Given the description of an element on the screen output the (x, y) to click on. 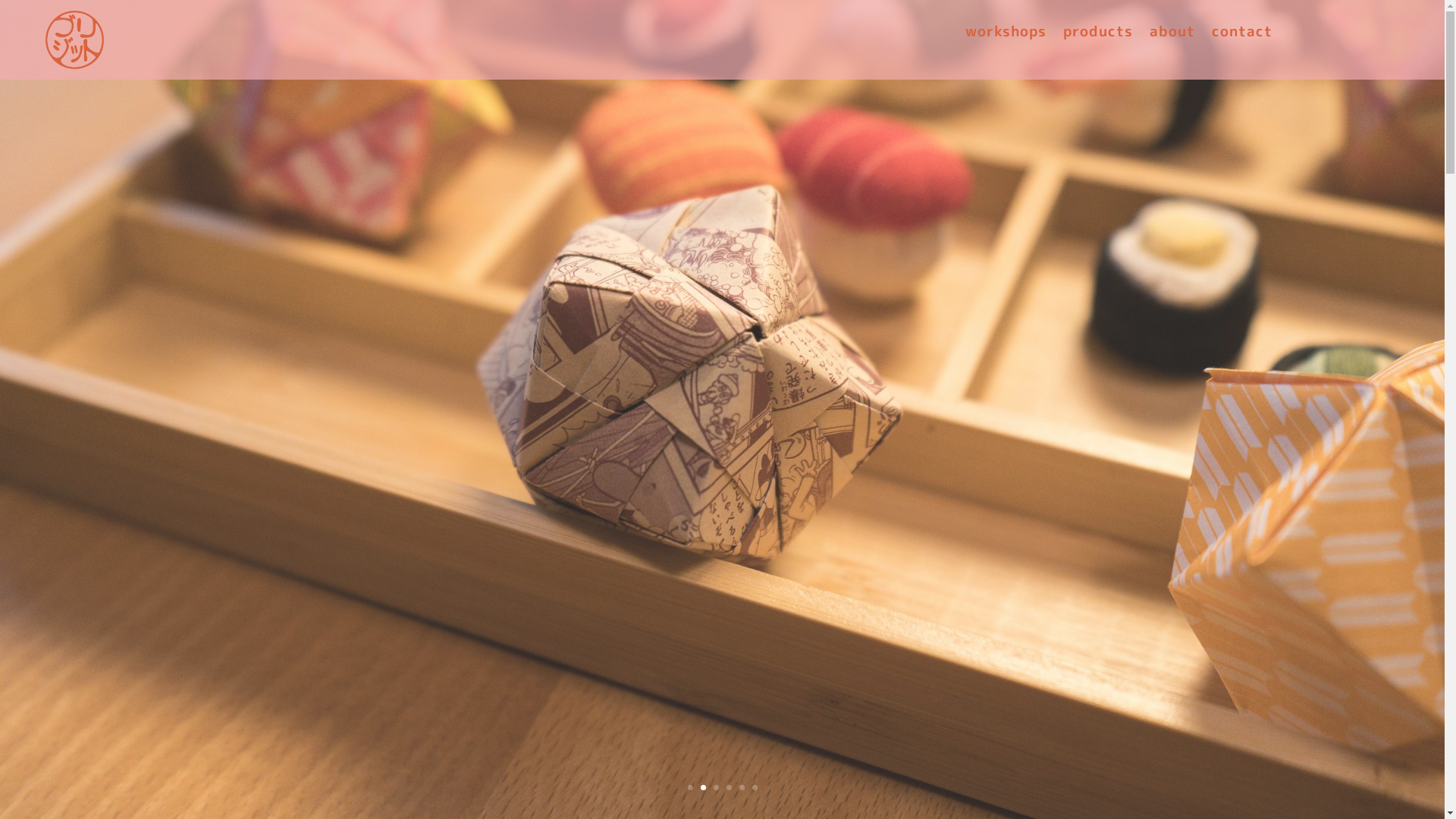
5 Element type: text (740, 787)
2 Element type: text (703, 787)
products Element type: text (1097, 33)
contact Element type: text (1241, 33)
4 Element type: text (728, 787)
workshops Element type: text (1005, 33)
about Element type: text (1172, 33)
6 Element type: text (754, 787)
3 Element type: text (715, 787)
1 Element type: text (689, 787)
